Given the description of an element on the screen output the (x, y) to click on. 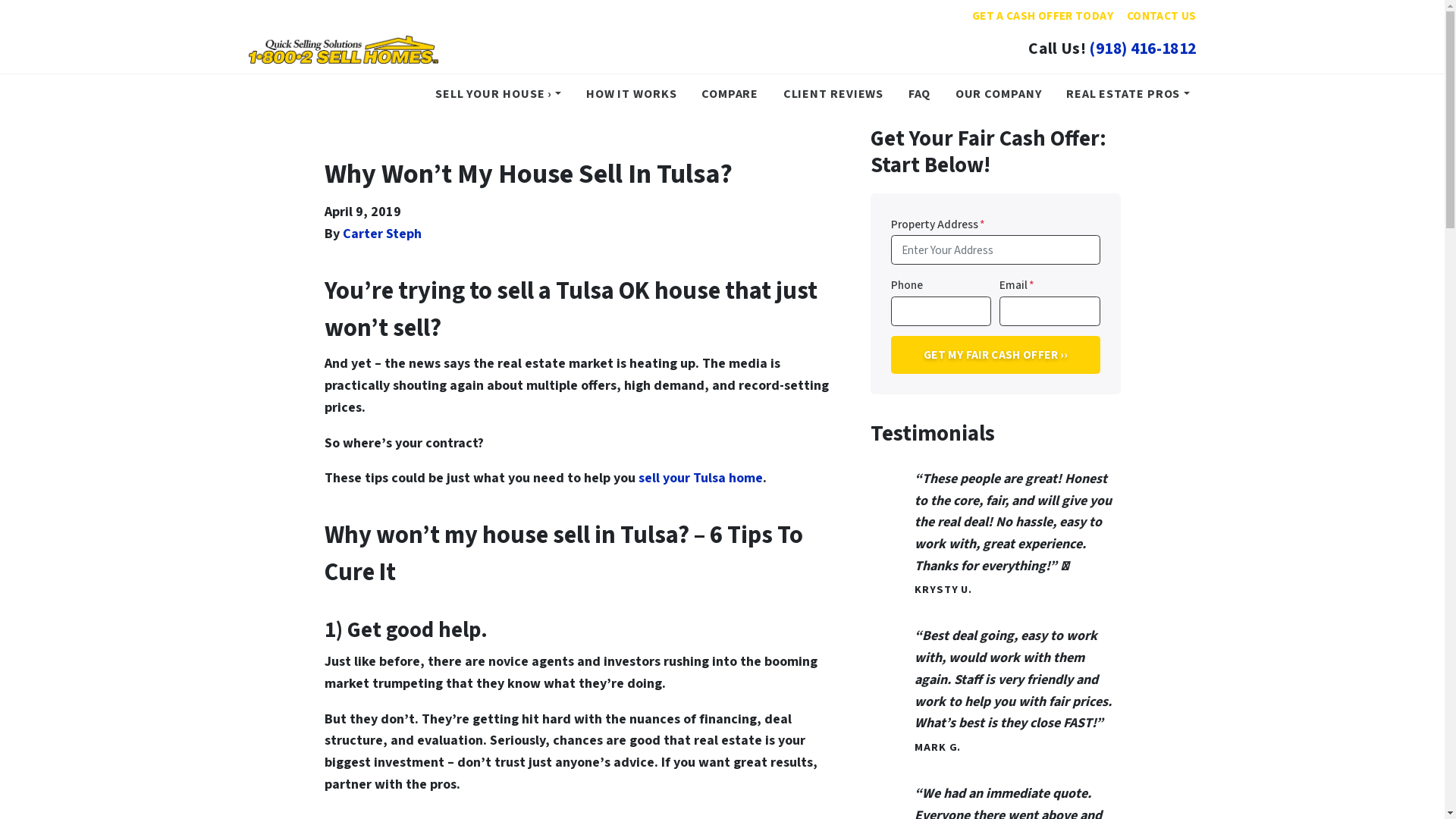
(918) 416-1812 Element type: text (1141, 48)
GET A CASH OFFER TODAY Element type: text (1042, 15)
HOW IT WORKS Element type: text (631, 93)
REAL ESTATE PROS Element type: text (1127, 93)
CONTACT US Element type: text (1161, 15)
FAQ Element type: text (919, 93)
OUR COMPANY Element type: text (998, 93)
Carter Steph Element type: text (381, 233)
COMPARE Element type: text (729, 93)
CLIENT REVIEWS Element type: text (833, 93)
 sell your Tulsa home Element type: text (698, 477)
